Given the description of an element on the screen output the (x, y) to click on. 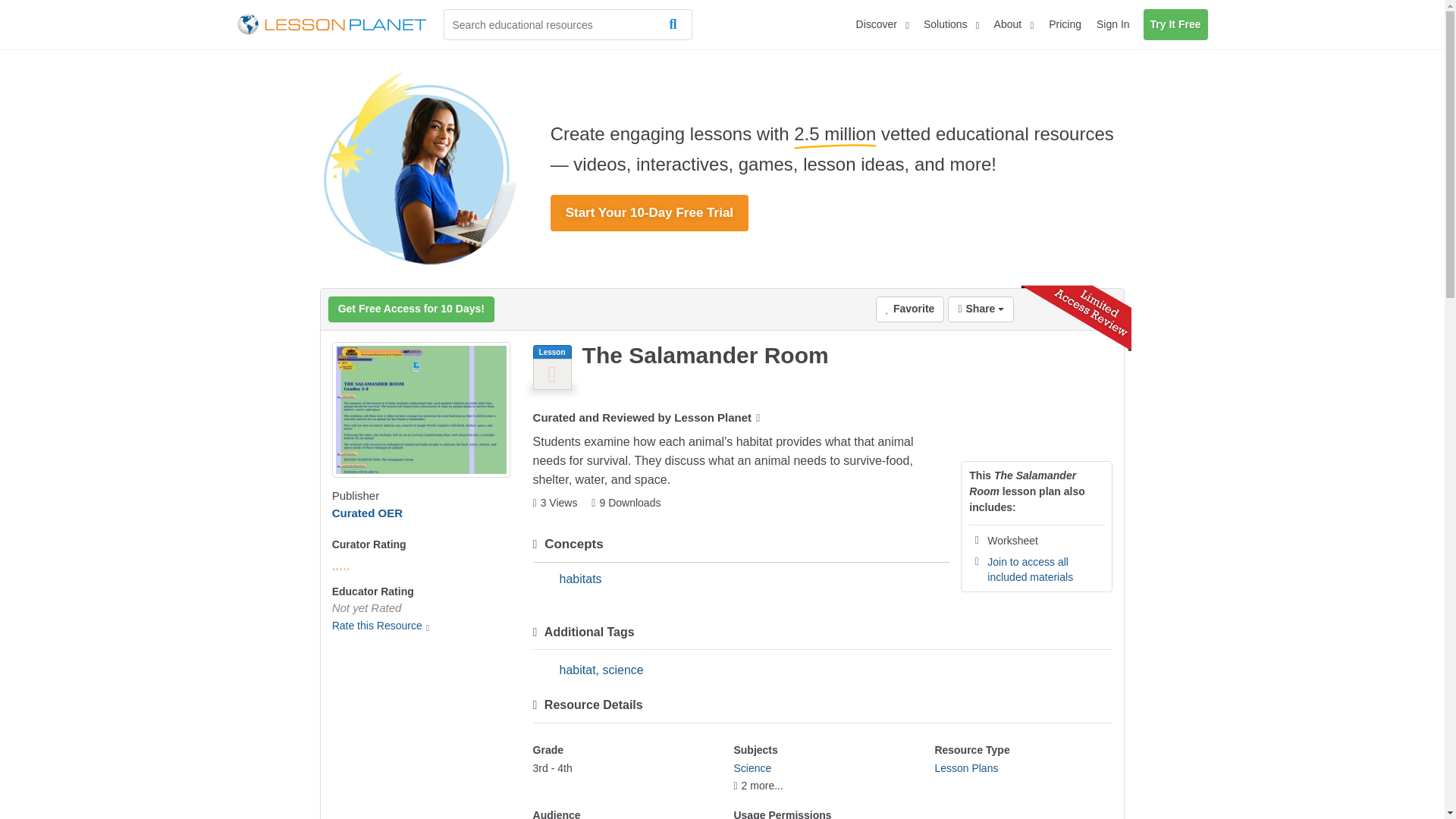
Sign In (1113, 24)
Search (676, 24)
habitat (577, 669)
Grade (621, 768)
The Salamander Room Lesson Plan (421, 409)
science (622, 669)
Join to access all included materials (1030, 569)
Pricing (1065, 24)
habitats (580, 578)
Curated OER (367, 512)
